Given the description of an element on the screen output the (x, y) to click on. 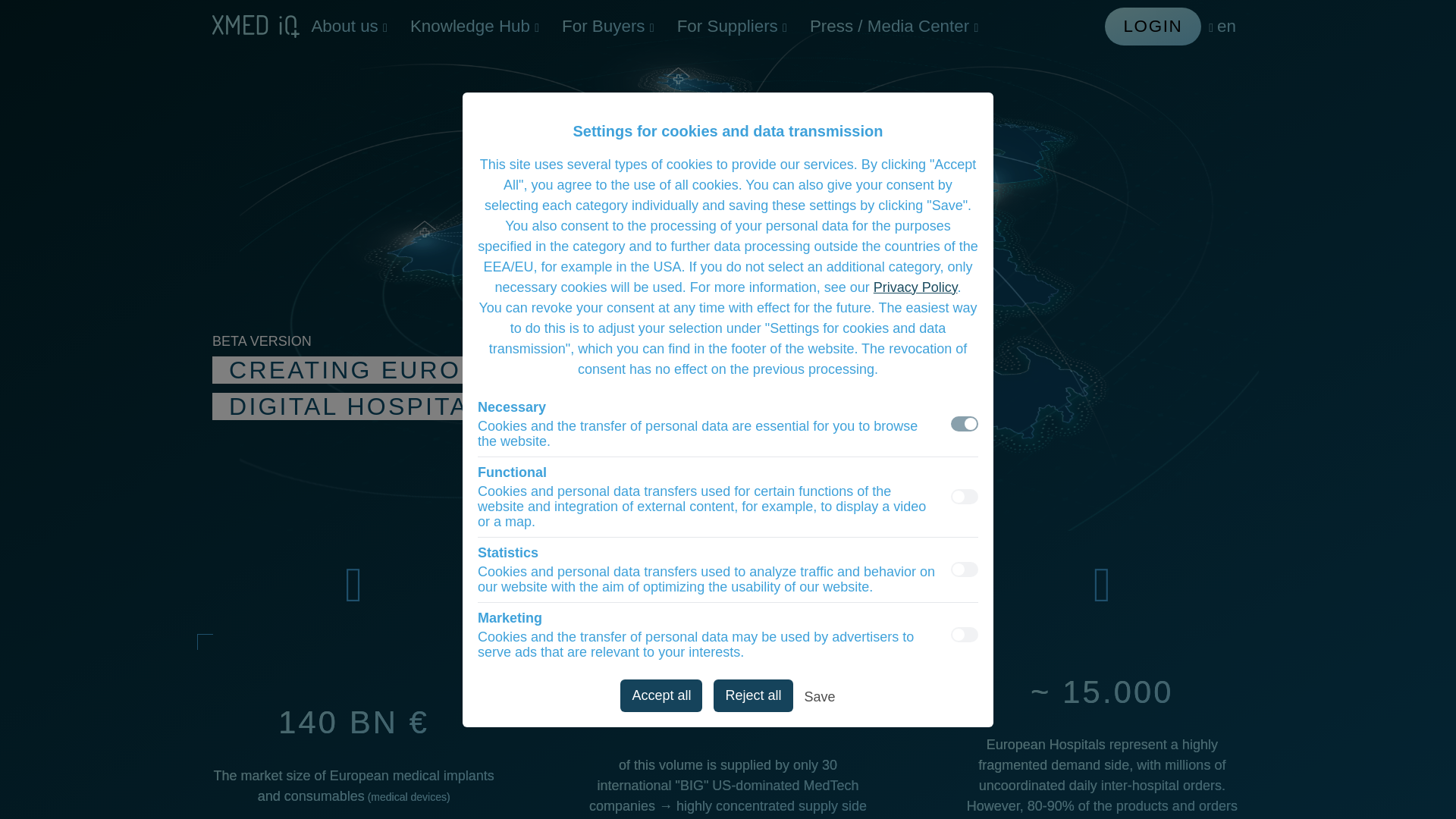
Save (820, 699)
For Suppliers (731, 26)
on (964, 569)
on (964, 423)
For Buyers (607, 26)
Privacy Policy (915, 286)
on (964, 496)
Reject all (752, 695)
on (964, 634)
LOGIN (1153, 26)
